Given the description of an element on the screen output the (x, y) to click on. 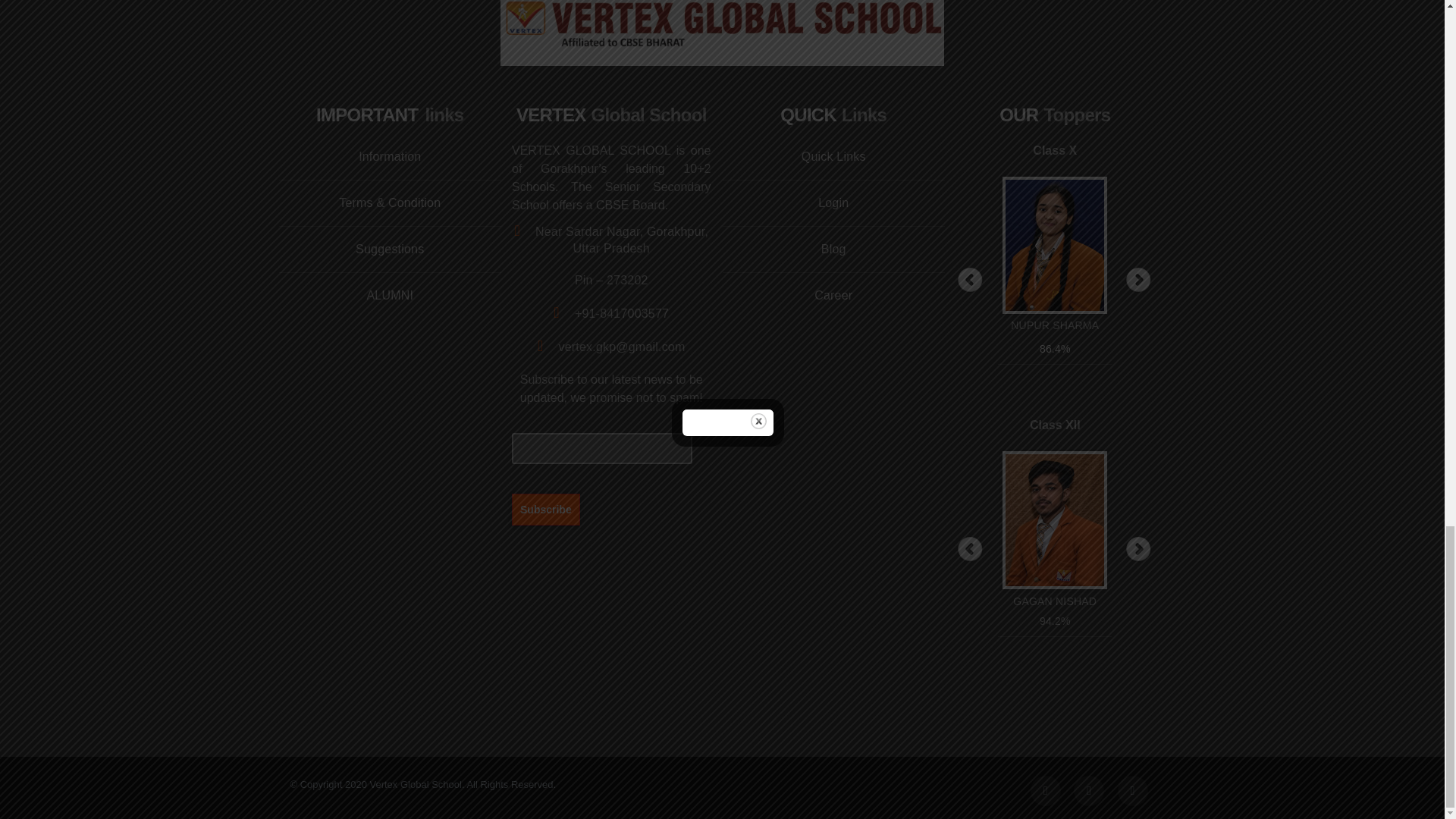
Subscribe (545, 508)
